Given the description of an element on the screen output the (x, y) to click on. 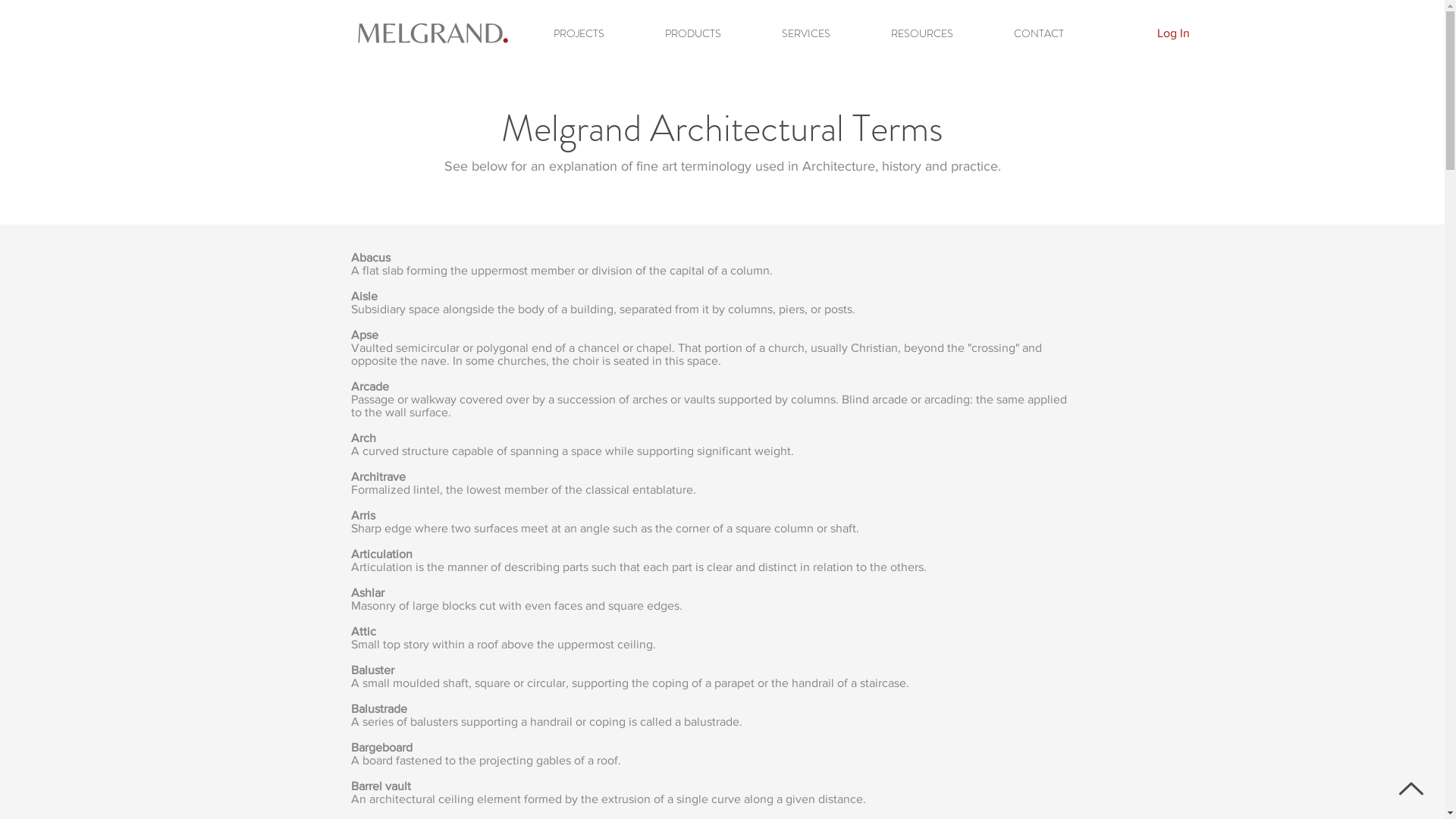
Architecture, history Element type: text (861, 165)
SERVICES Element type: text (804, 33)
Log In Element type: text (1173, 33)
CONTACT Element type: text (1037, 33)
PROJECTS Element type: text (578, 33)
RESOURCES Element type: text (920, 33)
PRODUCTS Element type: text (691, 33)
